Given the description of an element on the screen output the (x, y) to click on. 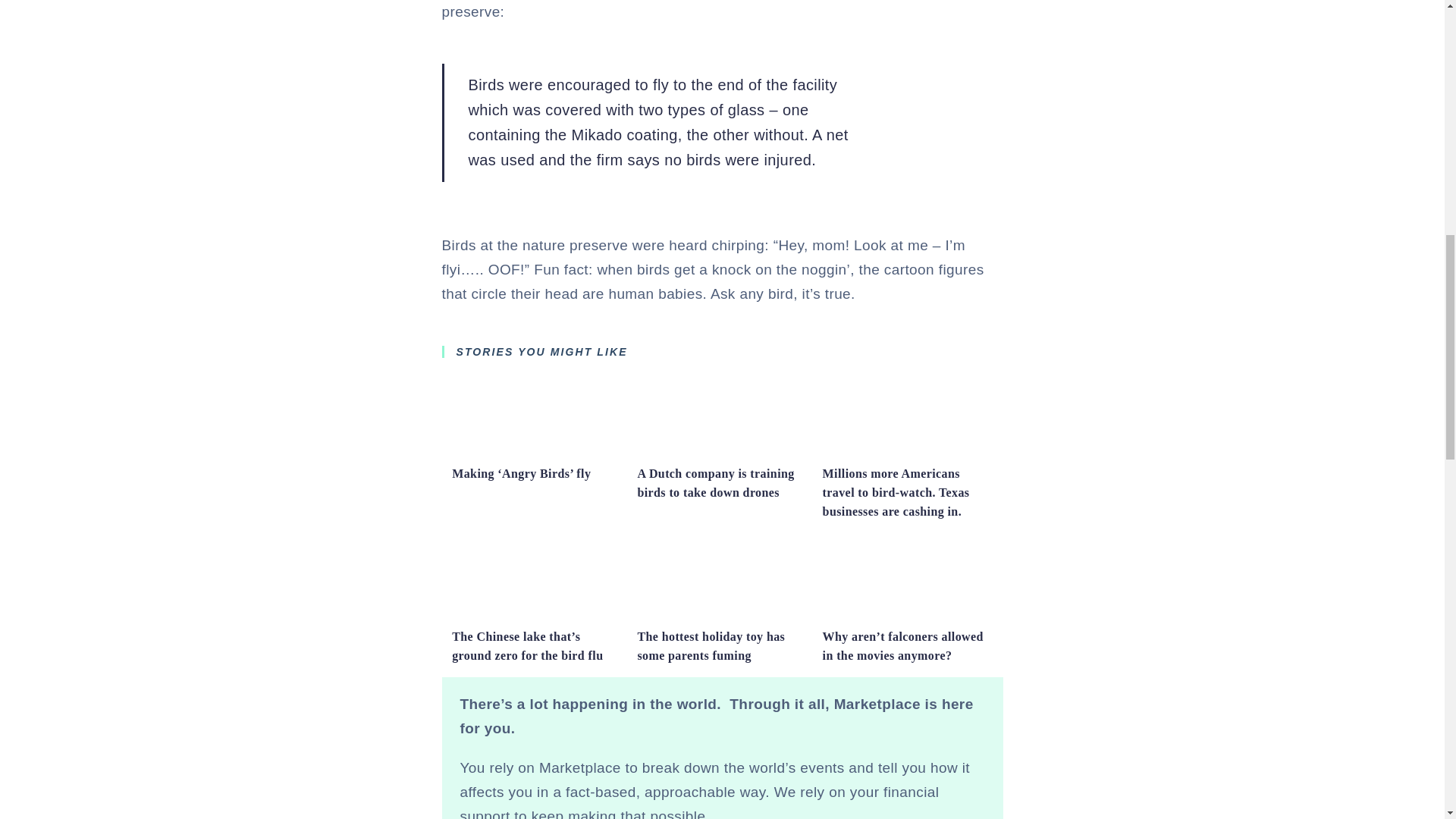
A Dutch company is training birds to take down drones (721, 451)
